Given the description of an element on the screen output the (x, y) to click on. 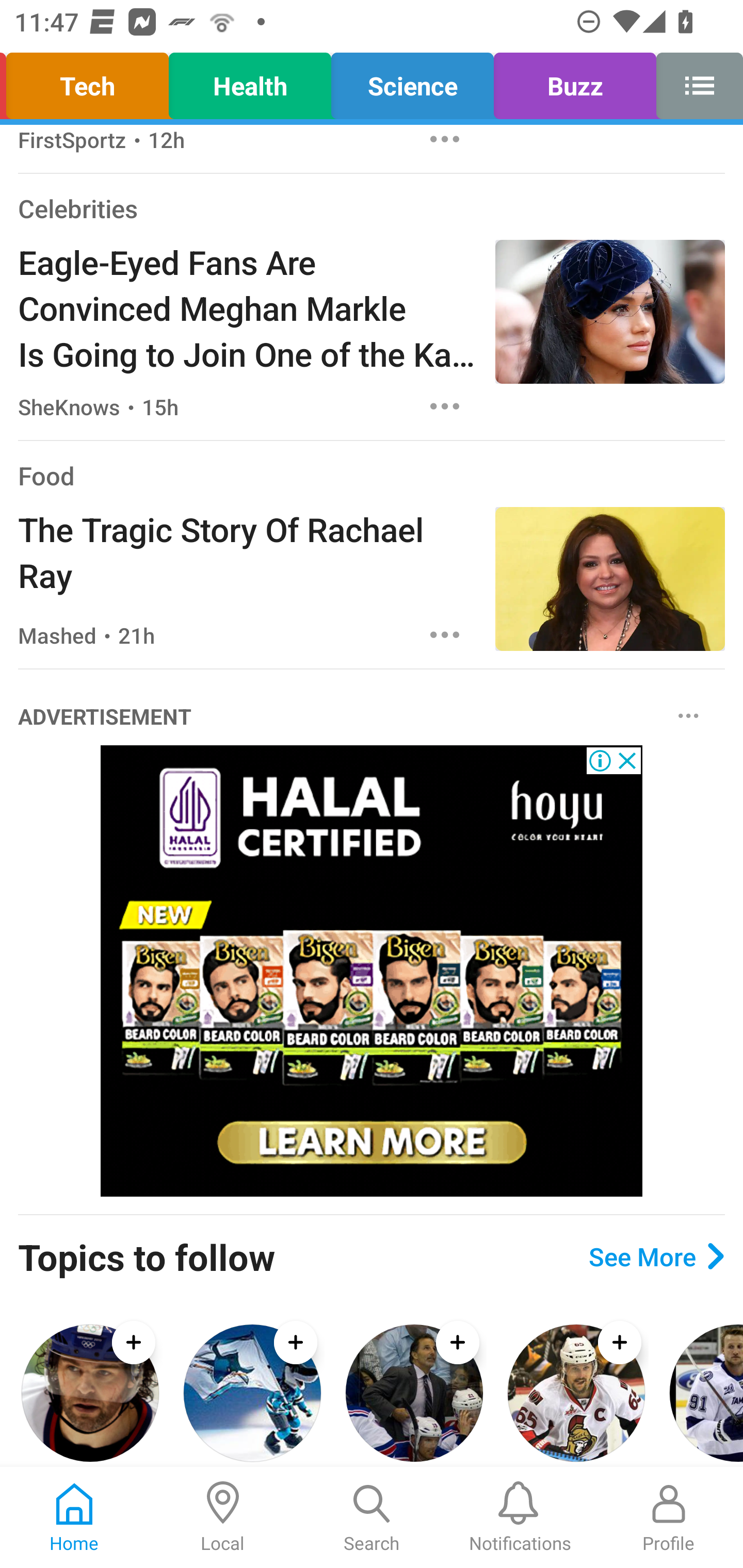
Tech (89, 81)
Health (249, 81)
Science (412, 81)
Buzz (574, 81)
 (694, 81)
Options (444, 143)
Celebrities (77, 208)
Options (444, 406)
Food (46, 474)
Options (444, 634)
Options (688, 715)
28 (371, 970)
See More (656, 1255)
Local (222, 1517)
Search (371, 1517)
Notifications (519, 1517)
Profile (668, 1517)
